Given the description of an element on the screen output the (x, y) to click on. 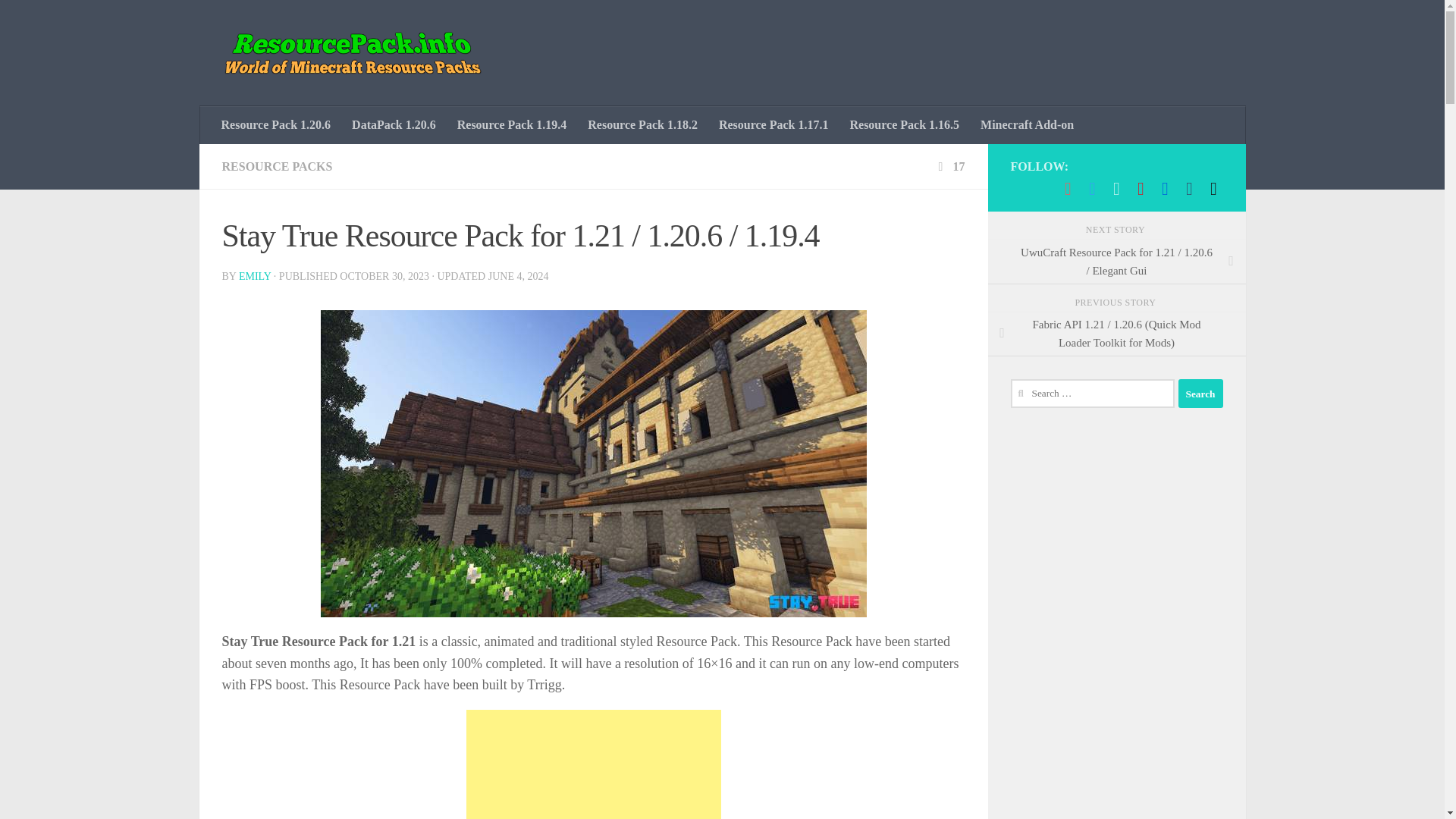
Minecraft Add-on (1026, 125)
Follow us on Pinterest (1140, 188)
Resource Pack 1.20.6 (276, 125)
Follow us on Youtube (1067, 188)
Resource Pack 1.17.1 (773, 125)
Search (1200, 393)
DataPack 1.20.6 (393, 125)
Resource Pack 1.16.5 (903, 125)
Posts by Emily (254, 276)
17 (948, 165)
